Given the description of an element on the screen output the (x, y) to click on. 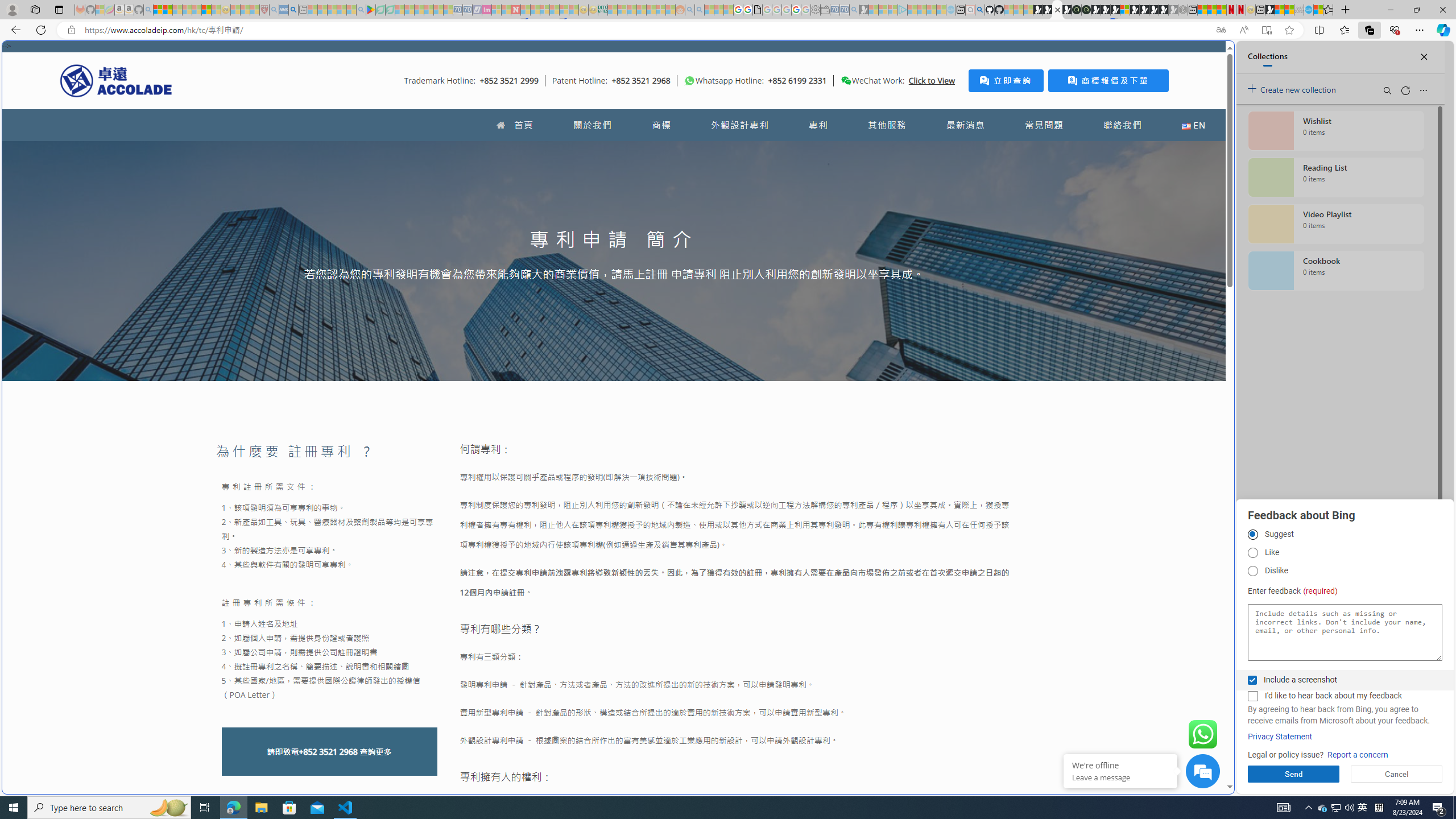
Earth has six continents not seven, radical new study claims (1288, 9)
